Given the description of an element on the screen output the (x, y) to click on. 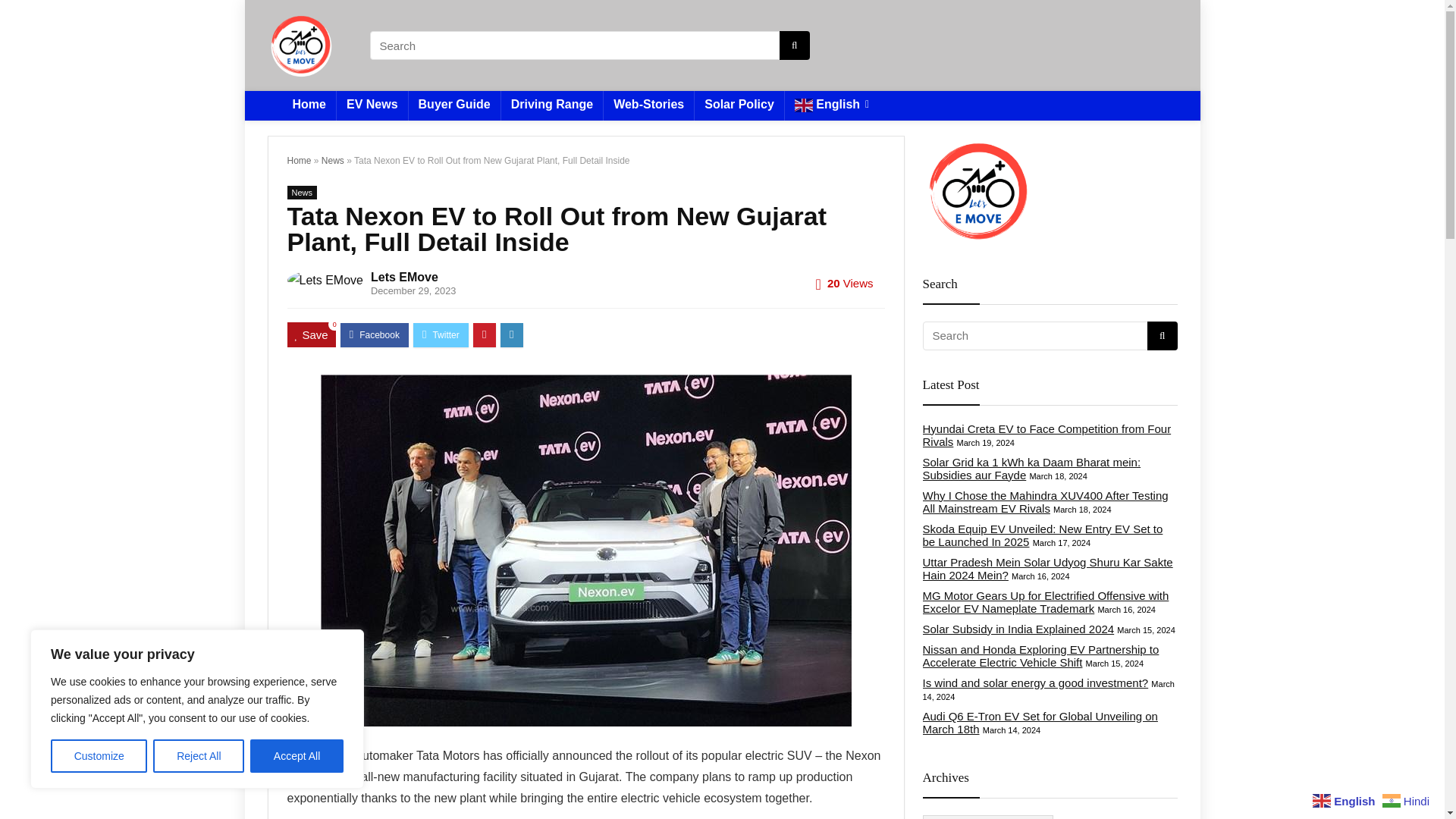
Solar Policy (739, 104)
Buyer Guide (454, 104)
Accept All (296, 756)
Web-Stories (649, 104)
Lets EMove (404, 277)
Driving Range (551, 104)
Customize (98, 756)
News (332, 160)
English (831, 105)
Home (298, 160)
EV News (371, 104)
Home (308, 104)
View all posts in News (301, 192)
News (301, 192)
Reject All (198, 756)
